Given the description of an element on the screen output the (x, y) to click on. 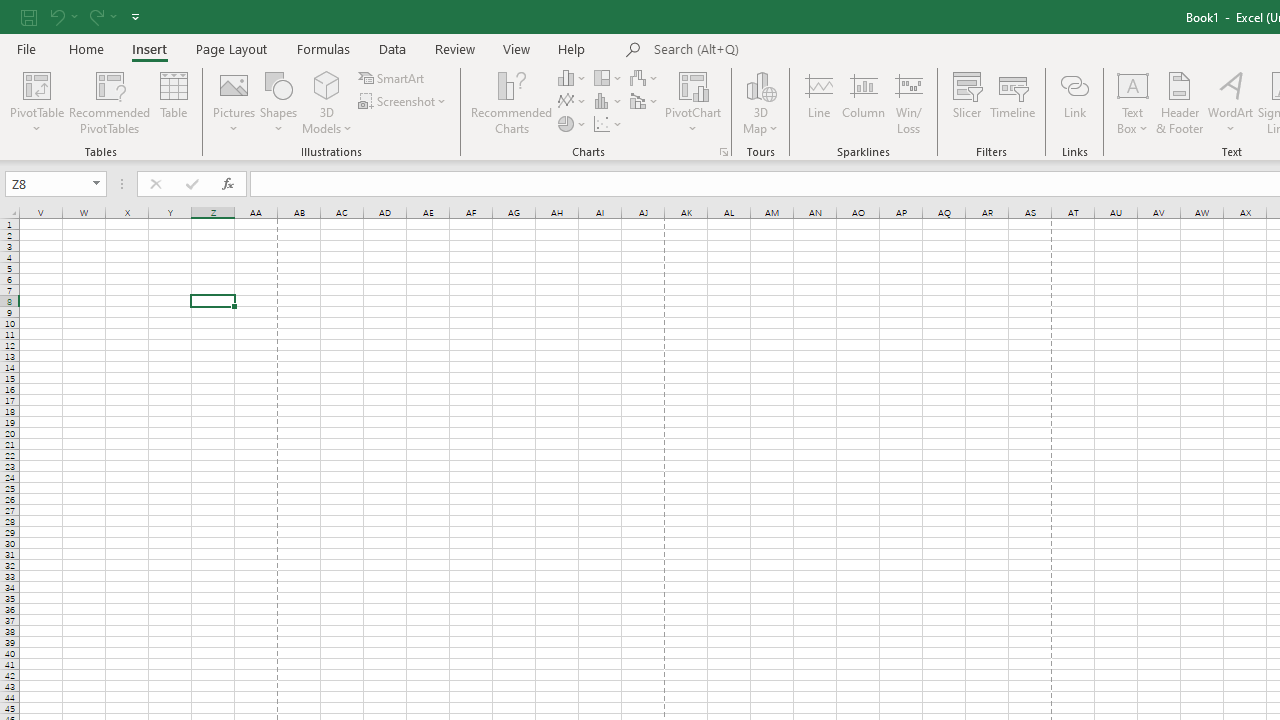
Insert Column or Bar Chart (573, 78)
PivotChart (693, 102)
Insert Combo Chart (645, 101)
Insert Pie or Doughnut Chart (573, 124)
3D Models (326, 84)
Recommended Charts (723, 151)
Shapes (278, 102)
3D Models (326, 102)
Column (863, 102)
